Given the description of an element on the screen output the (x, y) to click on. 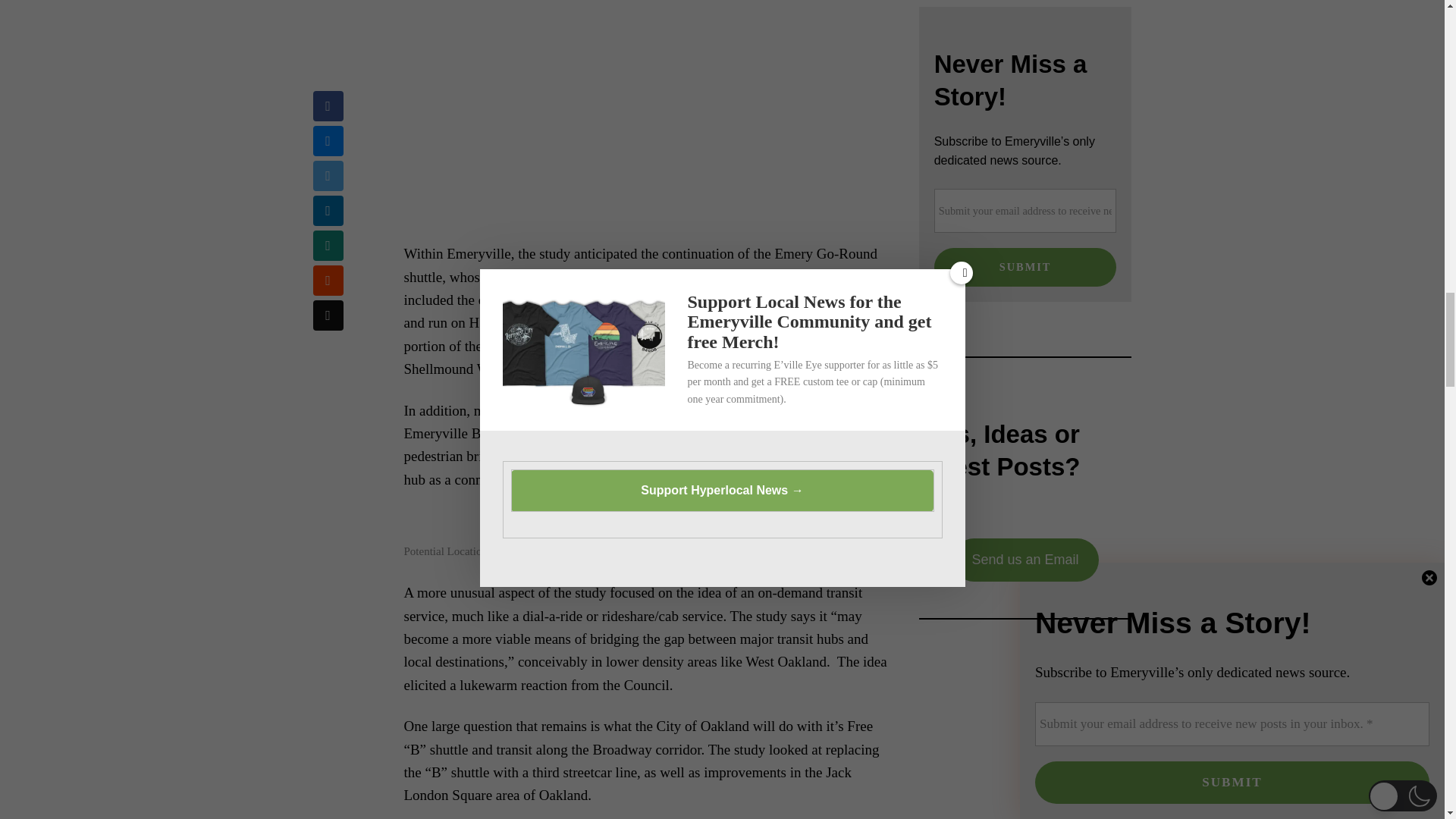
Submit (1025, 267)
